Given the description of an element on the screen output the (x, y) to click on. 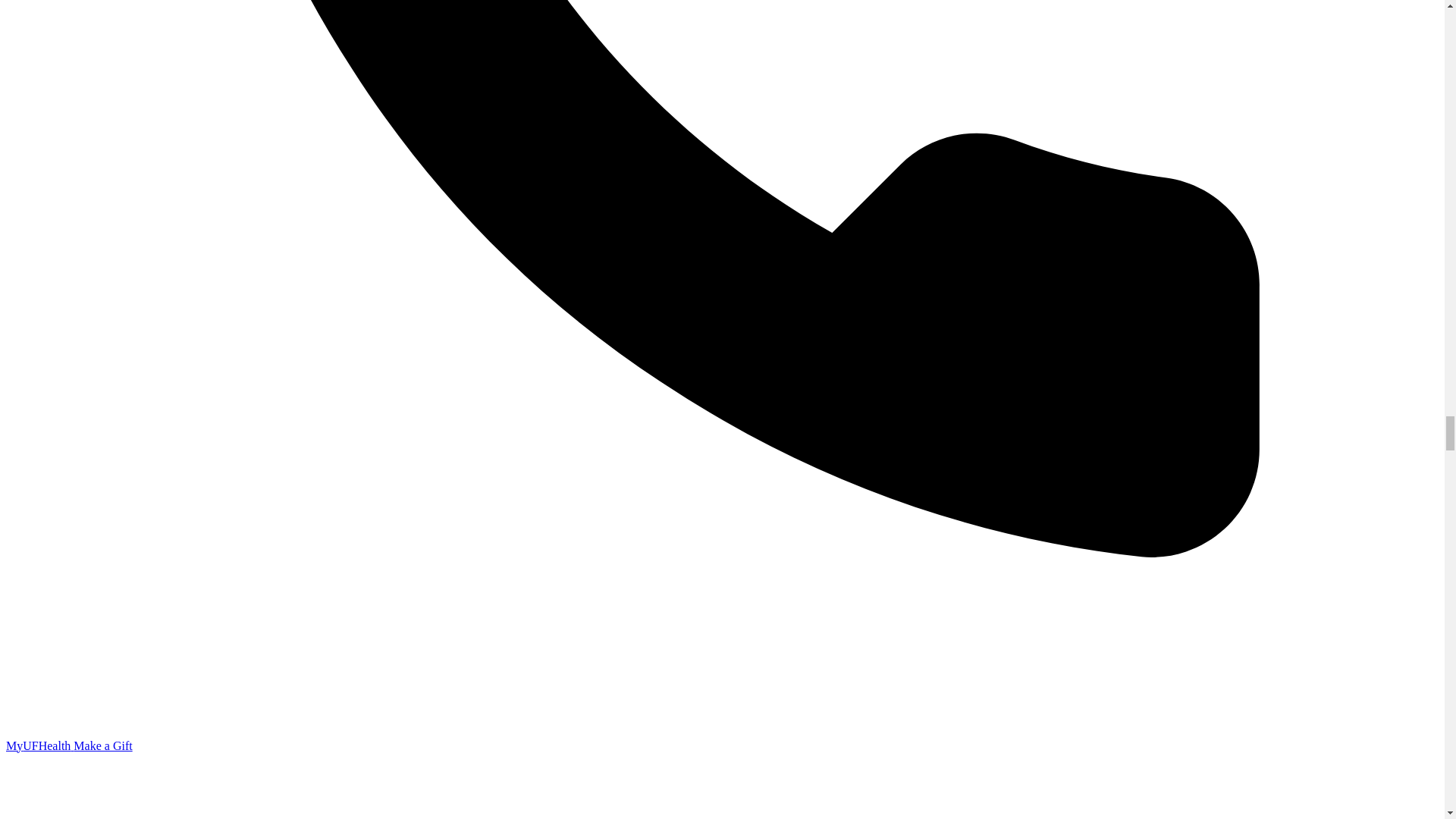
MyUFHealth (39, 744)
